Given the description of an element on the screen output the (x, y) to click on. 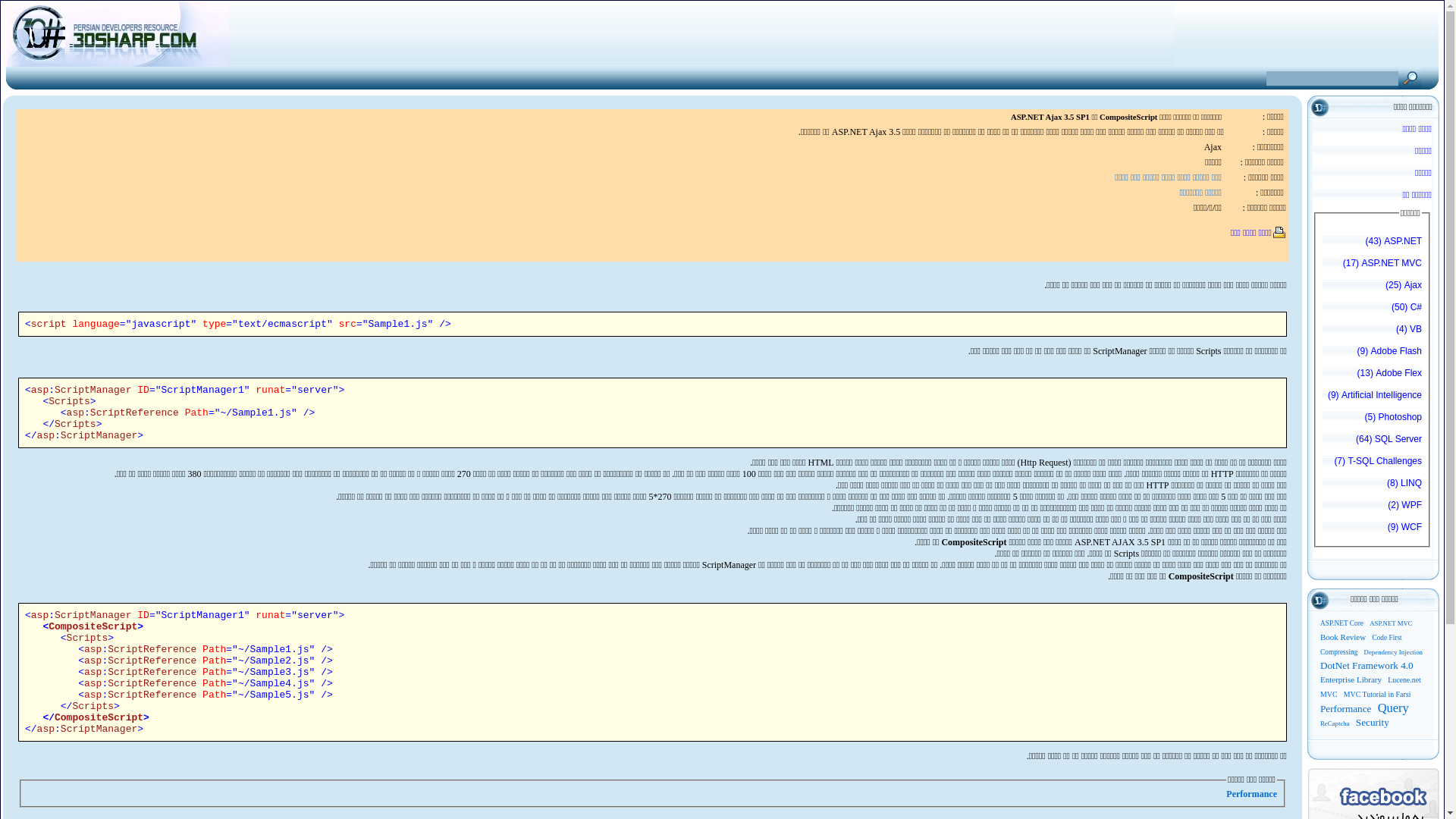
Performance Element type: text (1251, 793)
Query Element type: text (1392, 707)
Lucene.net Element type: text (1404, 679)
VB (4) Element type: text (1371, 332)
Ajax (25) Element type: text (1371, 288)
Compressing Element type: text (1338, 651)
Security Element type: text (1372, 722)
ASP.NET Core Element type: text (1341, 623)
Performance Element type: text (1345, 708)
Enterprise Library Element type: text (1350, 679)
MVC Tutorial in Farsi Element type: text (1377, 694)
MVC Element type: text (1328, 694)
Book Review Element type: text (1342, 636)
LINQ (8) Element type: text (1371, 486)
Dependency Injection Element type: text (1393, 651)
DotNet Framework 4.0 Element type: text (1366, 665)
ASP.NET MVC (17) Element type: text (1371, 266)
Adobe Flex (13) Element type: text (1371, 376)
Photoshop (5) Element type: text (1371, 420)
WCF (9) Element type: text (1371, 530)
C# (50) Element type: text (1371, 310)
ReCaptcha Element type: text (1334, 723)
Artificial Intelligence (9) Element type: text (1371, 398)
ASP.NET MVC Element type: text (1390, 623)
Adobe Flash (9) Element type: text (1371, 354)
T-SQL Challenges (7) Element type: text (1371, 464)
ASP.NET (43) Element type: text (1371, 244)
SQL Server (64) Element type: text (1371, 442)
Code First Element type: text (1386, 637)
WPF (2) Element type: text (1371, 508)
